Given the description of an element on the screen output the (x, y) to click on. 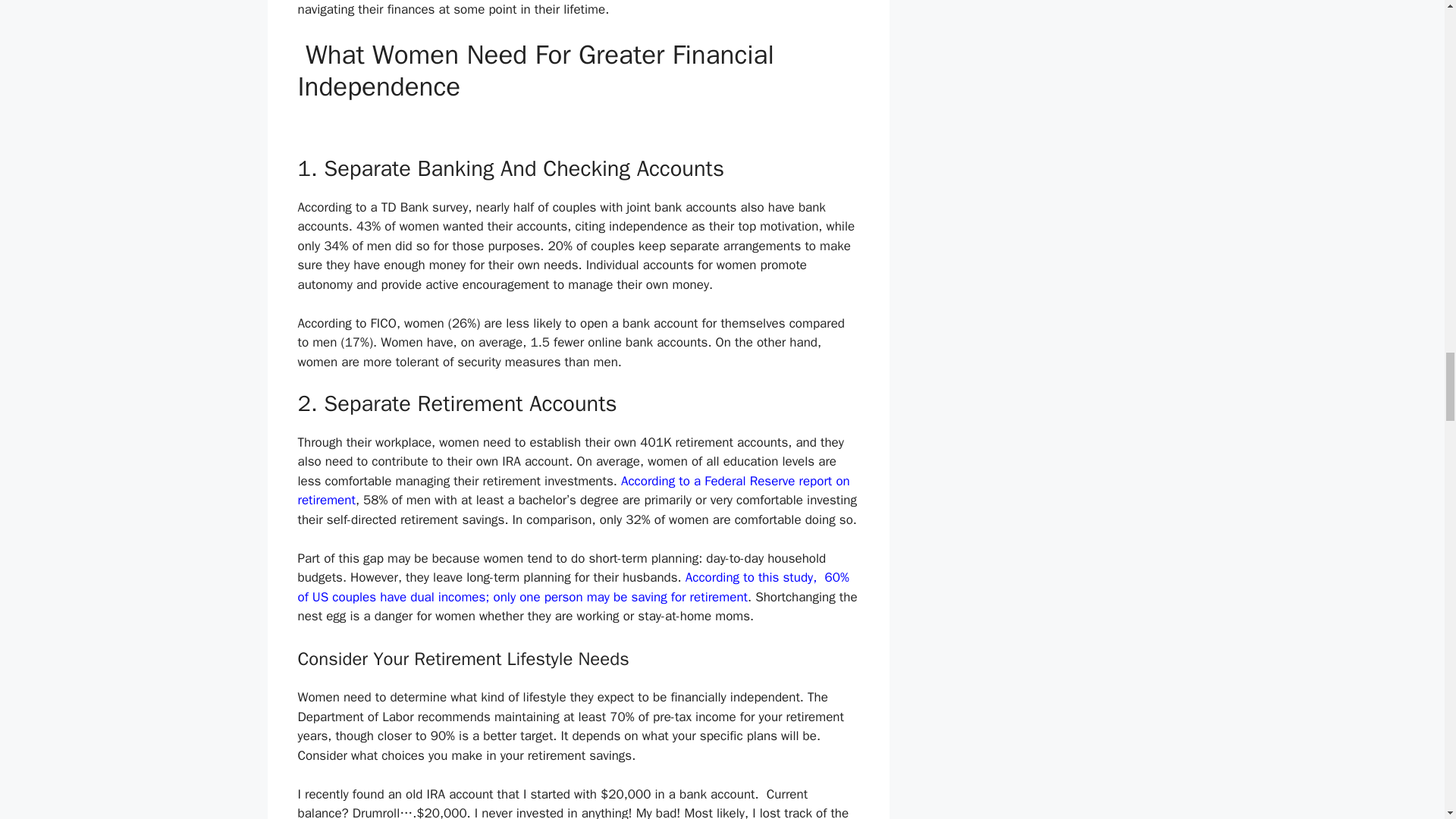
According to a Federal Reserve report on retirement (572, 490)
